Given the description of an element on the screen output the (x, y) to click on. 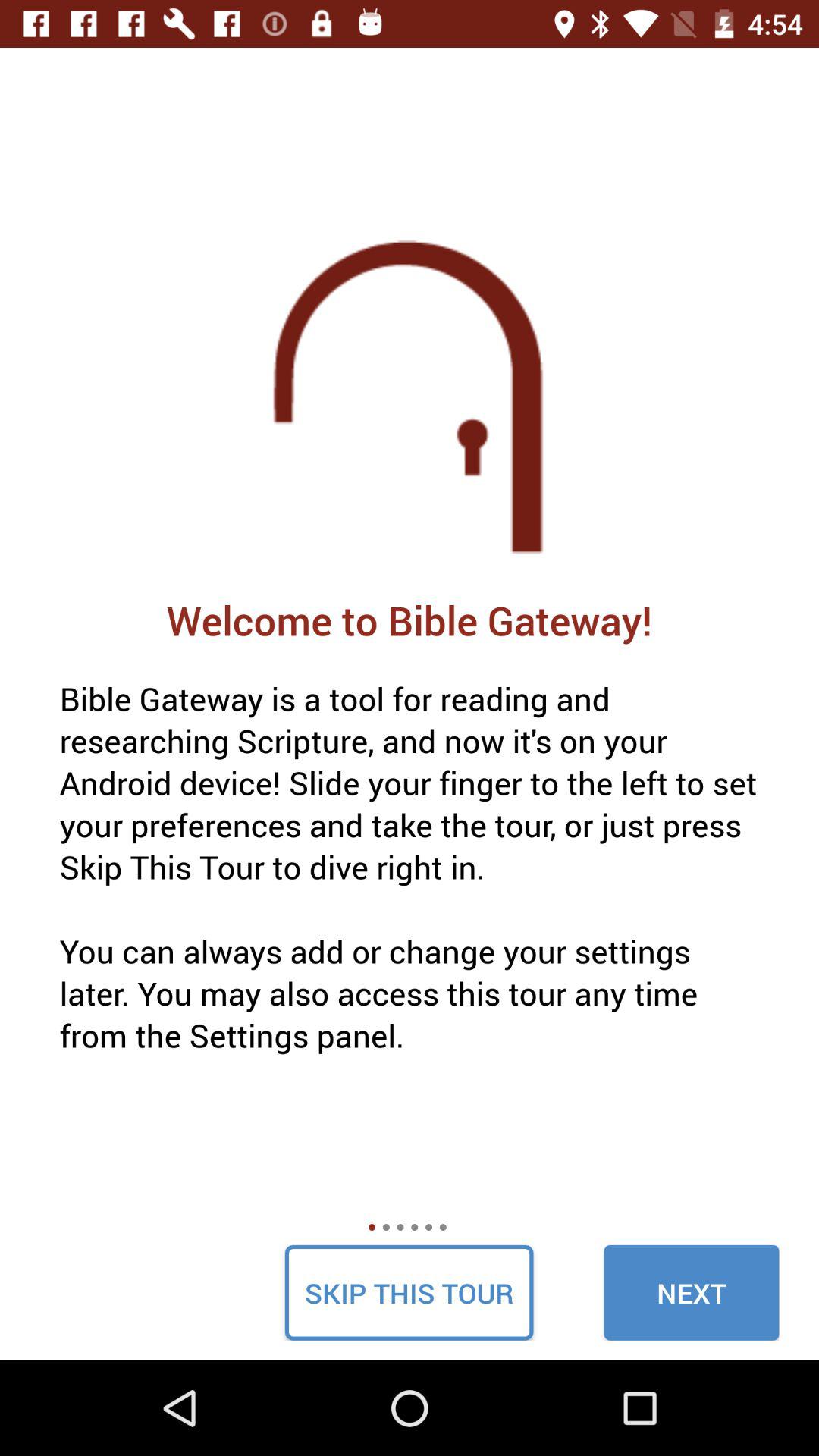
choose icon to the left of the next item (408, 1292)
